Given the description of an element on the screen output the (x, y) to click on. 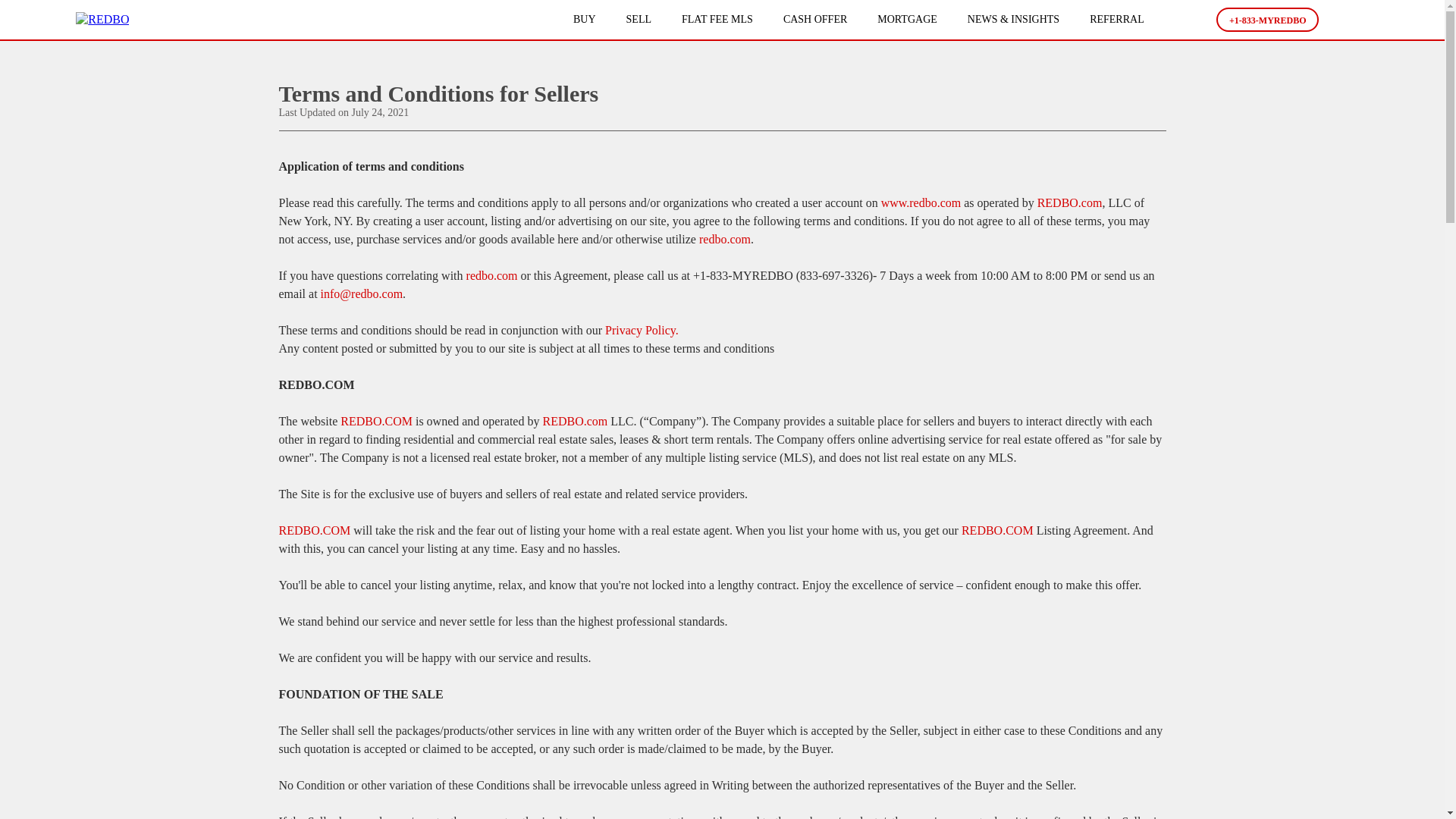
REDBO.COM (376, 420)
FLAT FEE MLS (717, 19)
CASH OFFER (814, 19)
REDBO.COM (996, 530)
SELL (638, 19)
www.redbo.com (920, 202)
REFERRAL (1116, 19)
redbo.com (724, 238)
REDBO.COM (314, 530)
REDBO.com (574, 420)
